Given the description of an element on the screen output the (x, y) to click on. 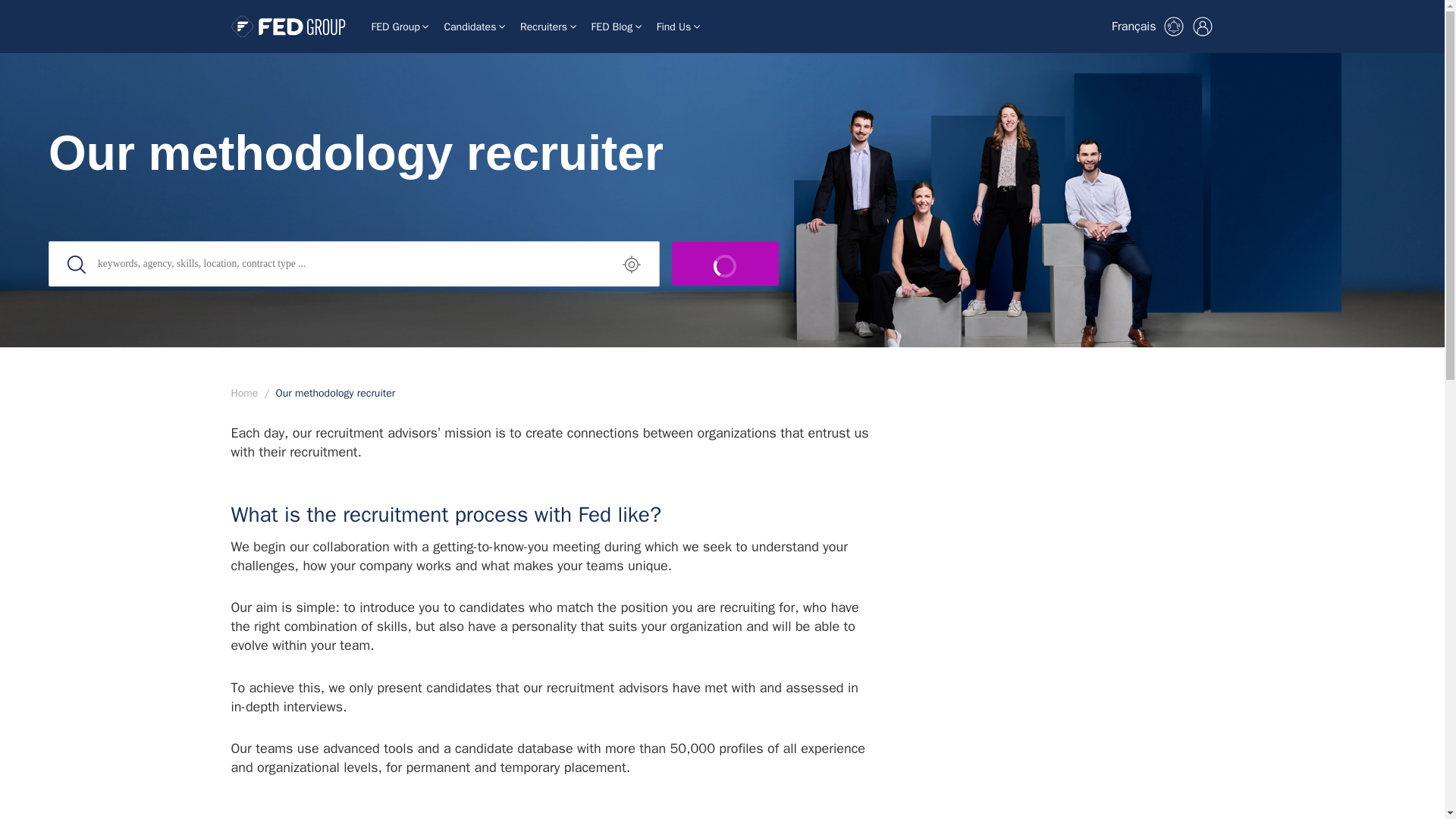
Recherche (354, 263)
Recruiters (547, 26)
FED Blog (616, 26)
Rechercher (724, 263)
Candidates (473, 26)
Find Us (678, 26)
FED Group (400, 26)
